Given the description of an element on the screen output the (x, y) to click on. 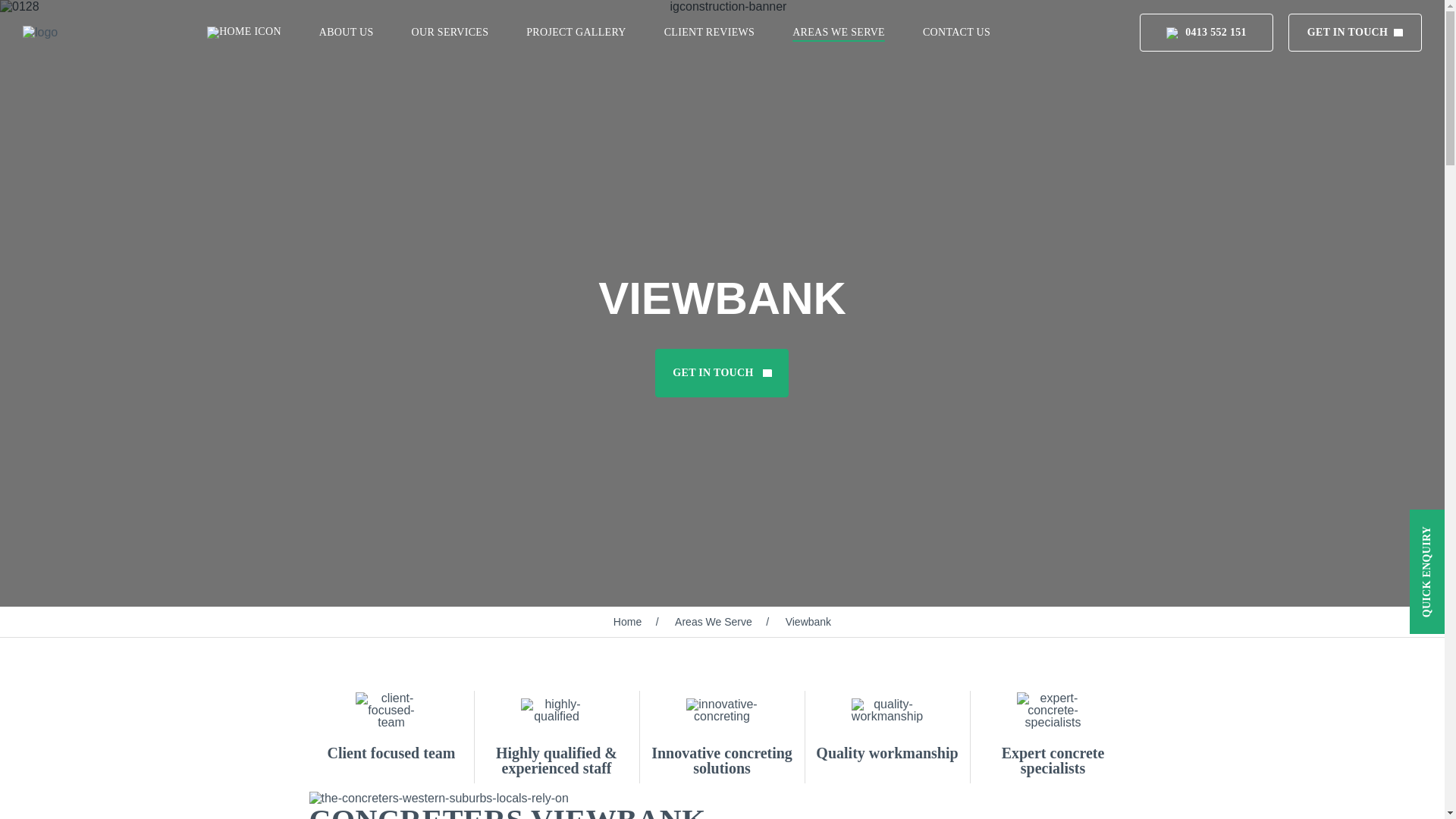
call (1171, 32)
caret (766, 372)
CONTACT US (956, 32)
ABOUT US (346, 32)
PROJECT GALLERY (575, 32)
OUR SERVICES (450, 32)
CLIENT REVIEWS (708, 32)
AREAS WE SERVE (838, 32)
home icon (243, 32)
caret (1398, 32)
